Given the description of an element on the screen output the (x, y) to click on. 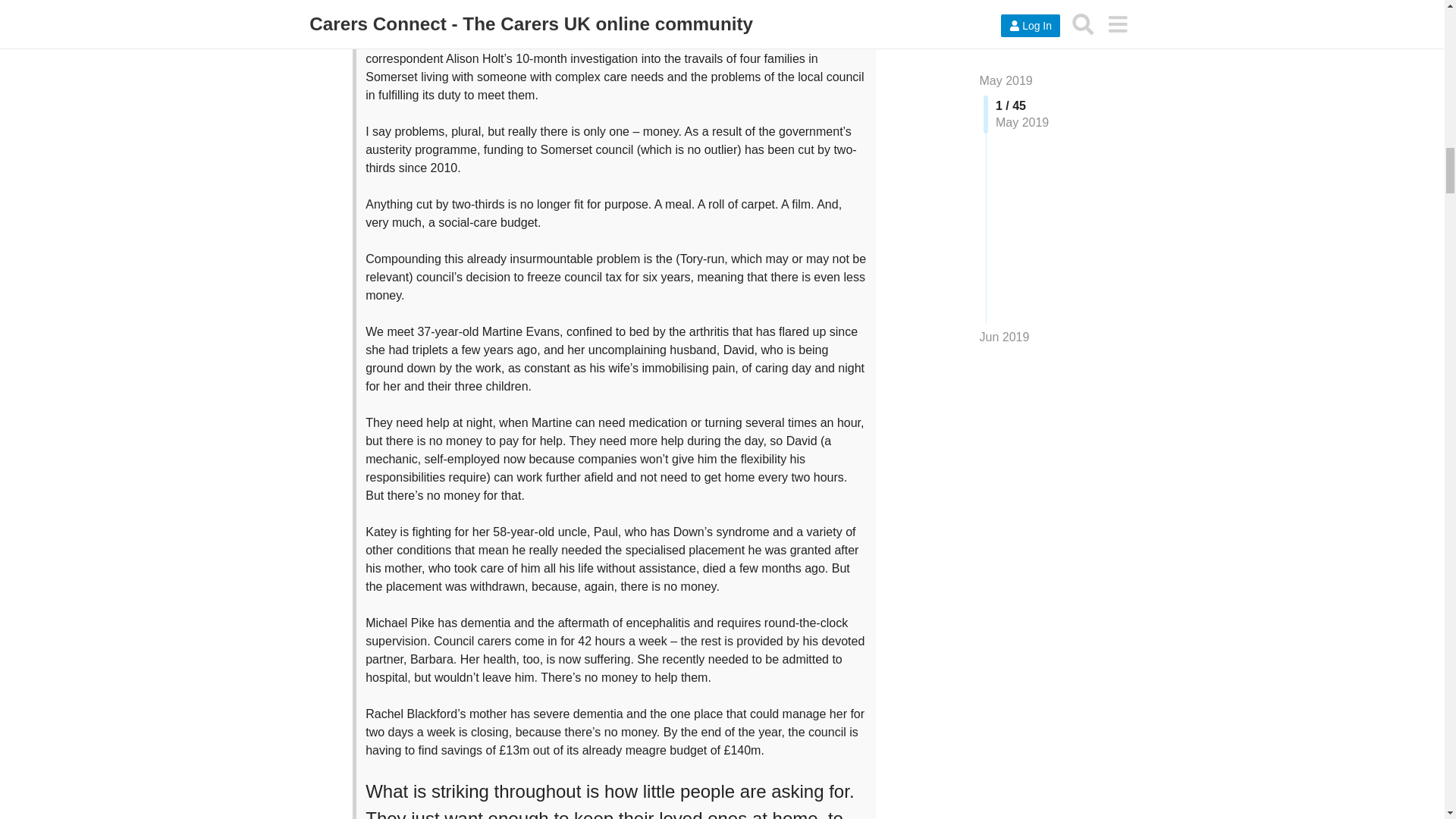
Tips and guidance for using the new forum.pdf (453, 481)
